Given the description of an element on the screen output the (x, y) to click on. 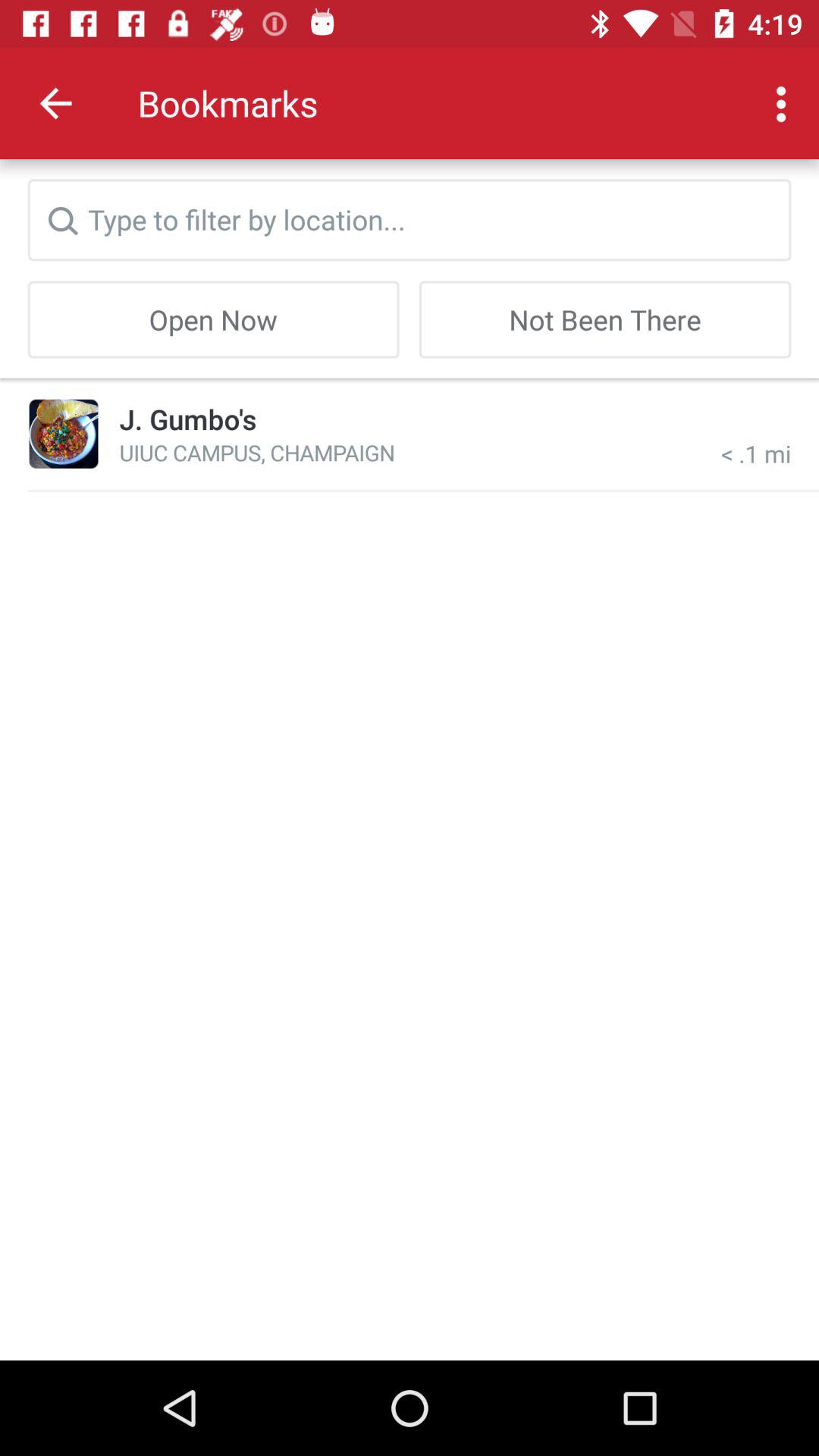
open the item to the left of j. gumbo's item (63, 433)
